Given the description of an element on the screen output the (x, y) to click on. 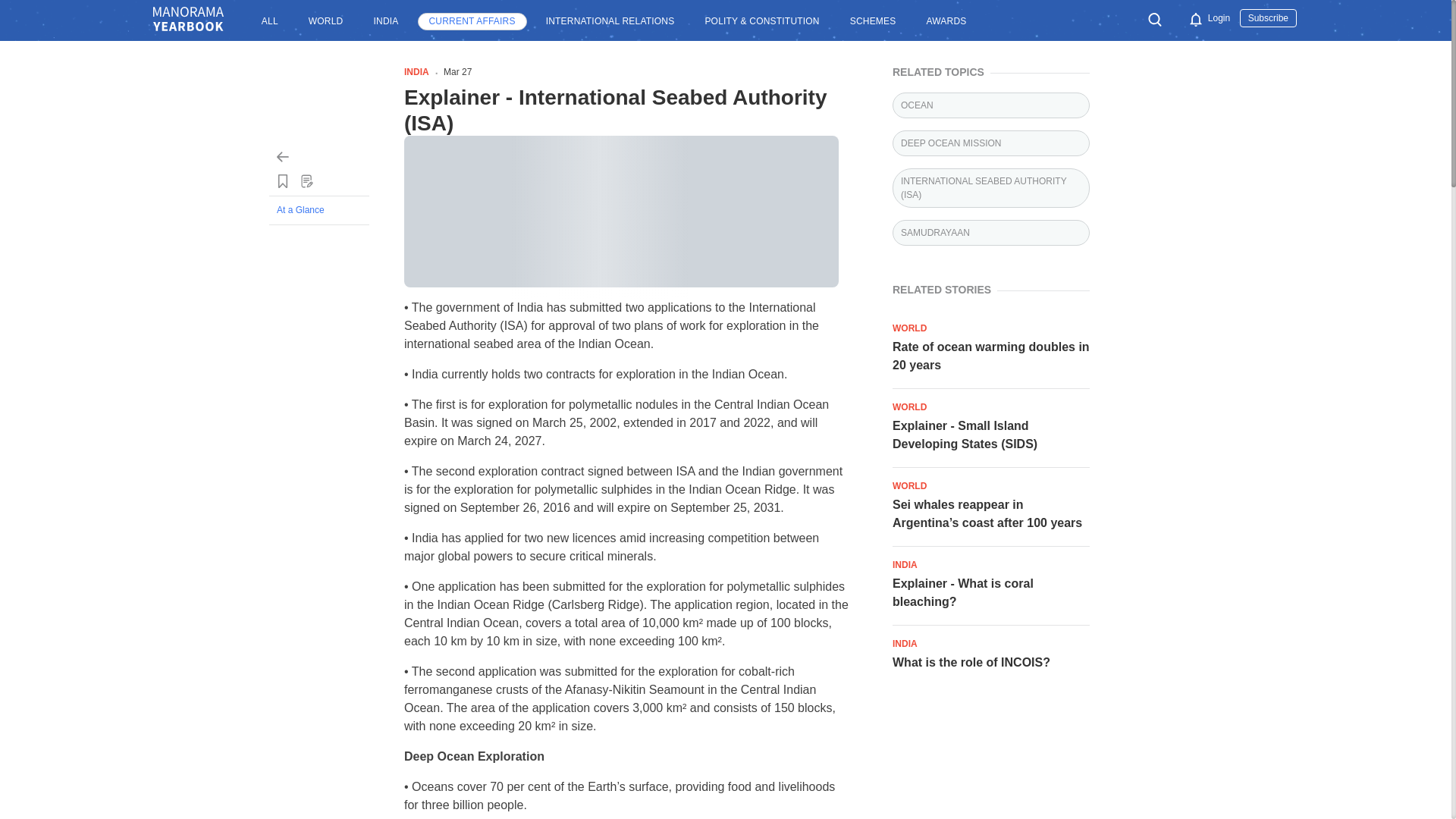
SCHEMES (872, 21)
Login (1219, 18)
ALL (269, 21)
AWARDS (945, 21)
At a Glance (319, 210)
Rate of ocean warming doubles in 20 years (990, 355)
WORLD (326, 21)
INTERNATIONAL RELATIONS (609, 21)
CURRENT AFFAIRS (470, 21)
INDIA (385, 21)
Subscribe (1268, 18)
SAMUDRAYAAN (990, 232)
DEEP OCEAN MISSION (990, 143)
OCEAN (990, 104)
